Given the description of an element on the screen output the (x, y) to click on. 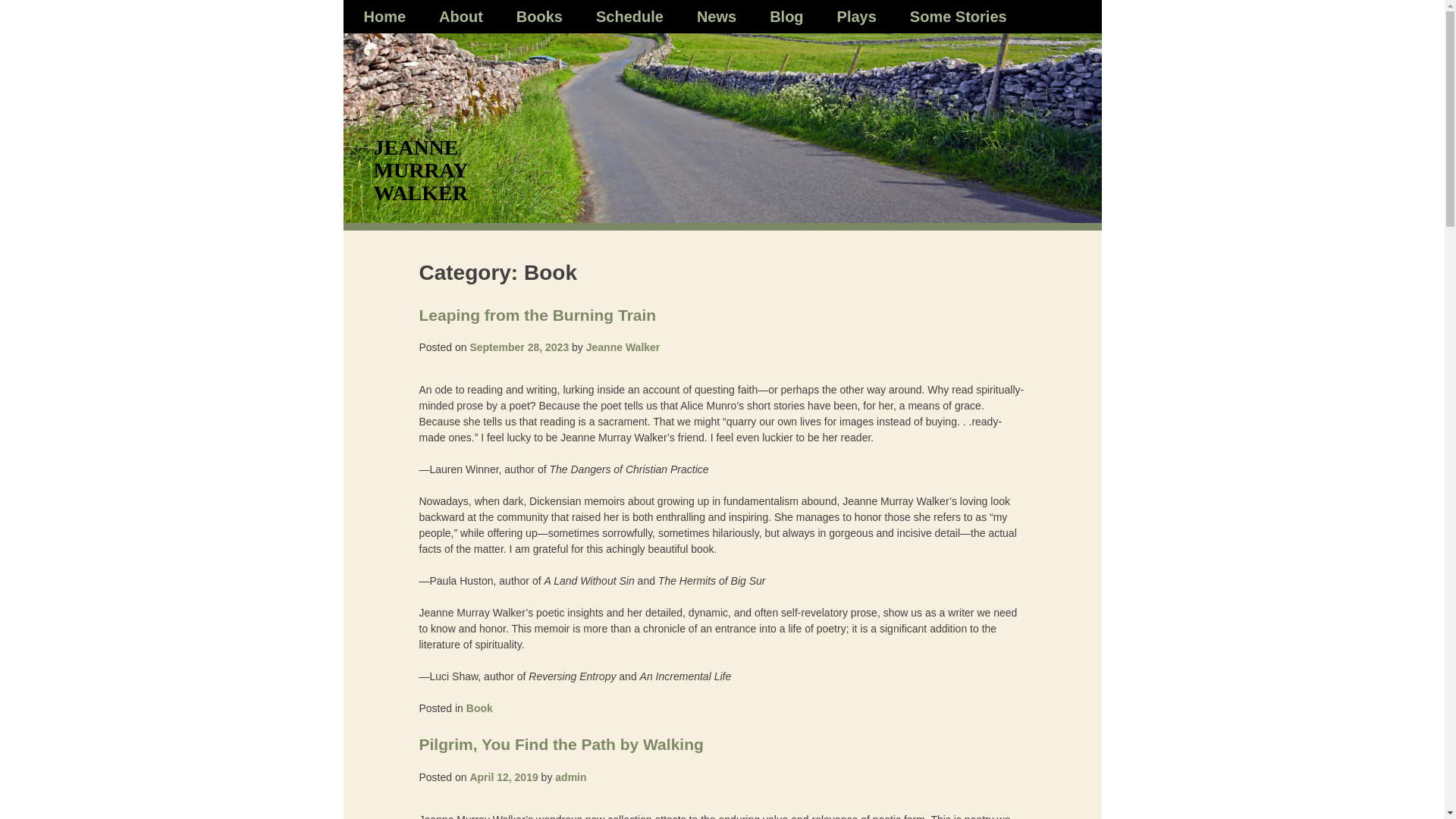
Blog (786, 15)
September 28, 2023 (518, 346)
Some Stories (958, 15)
Book (479, 707)
Plays (856, 15)
admin (570, 776)
Home (385, 15)
News (716, 15)
April 12, 2019 (502, 776)
Pilgrim, You Find the Path by Walking (561, 743)
